Given the description of an element on the screen output the (x, y) to click on. 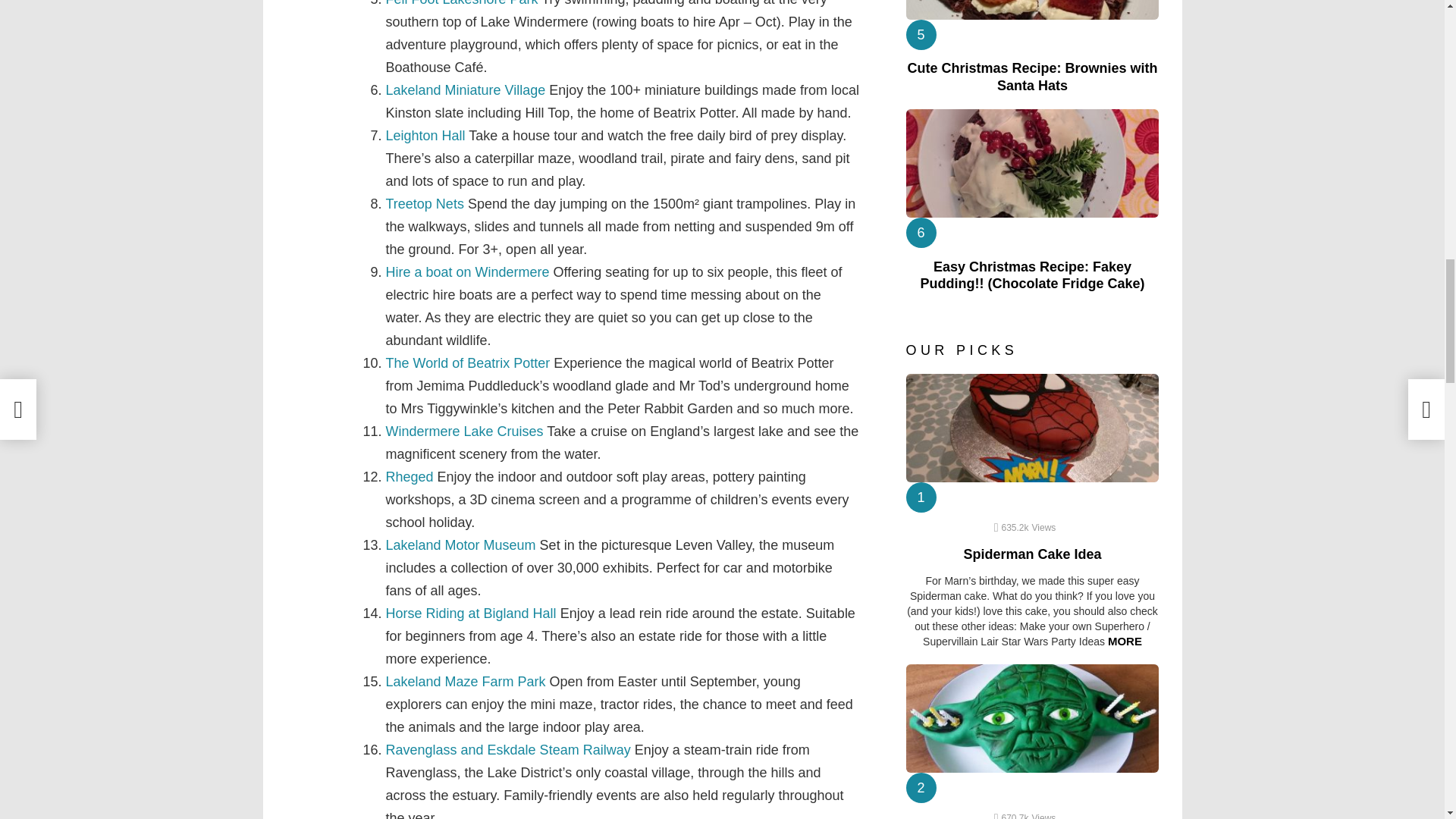
Leighton Hall (424, 135)
Lakeland Miniature Village (464, 89)
Fell Foot Lakeshore Park (461, 3)
